Given the description of an element on the screen output the (x, y) to click on. 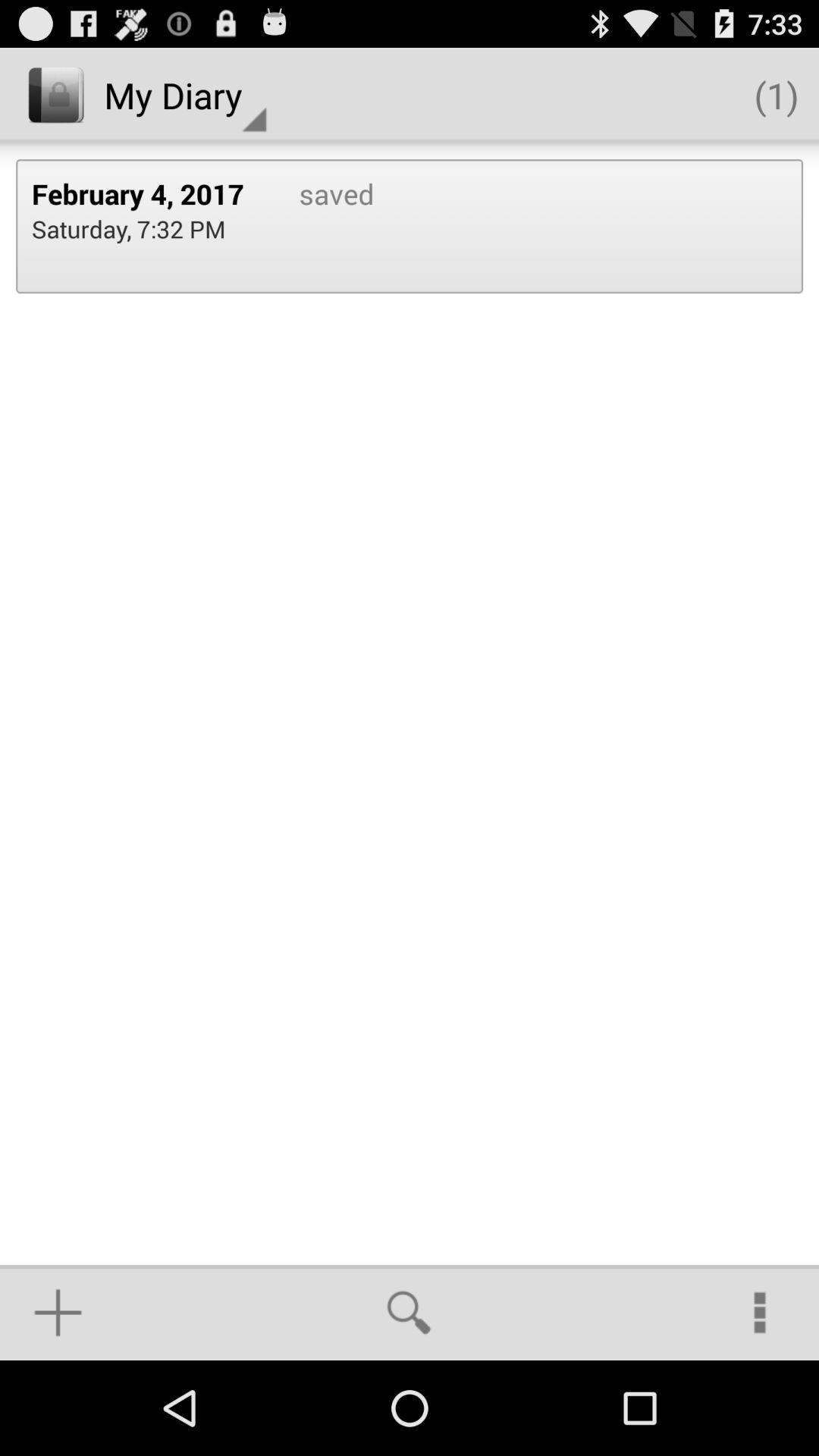
tap the february 4, 2017 (149, 193)
